Given the description of an element on the screen output the (x, y) to click on. 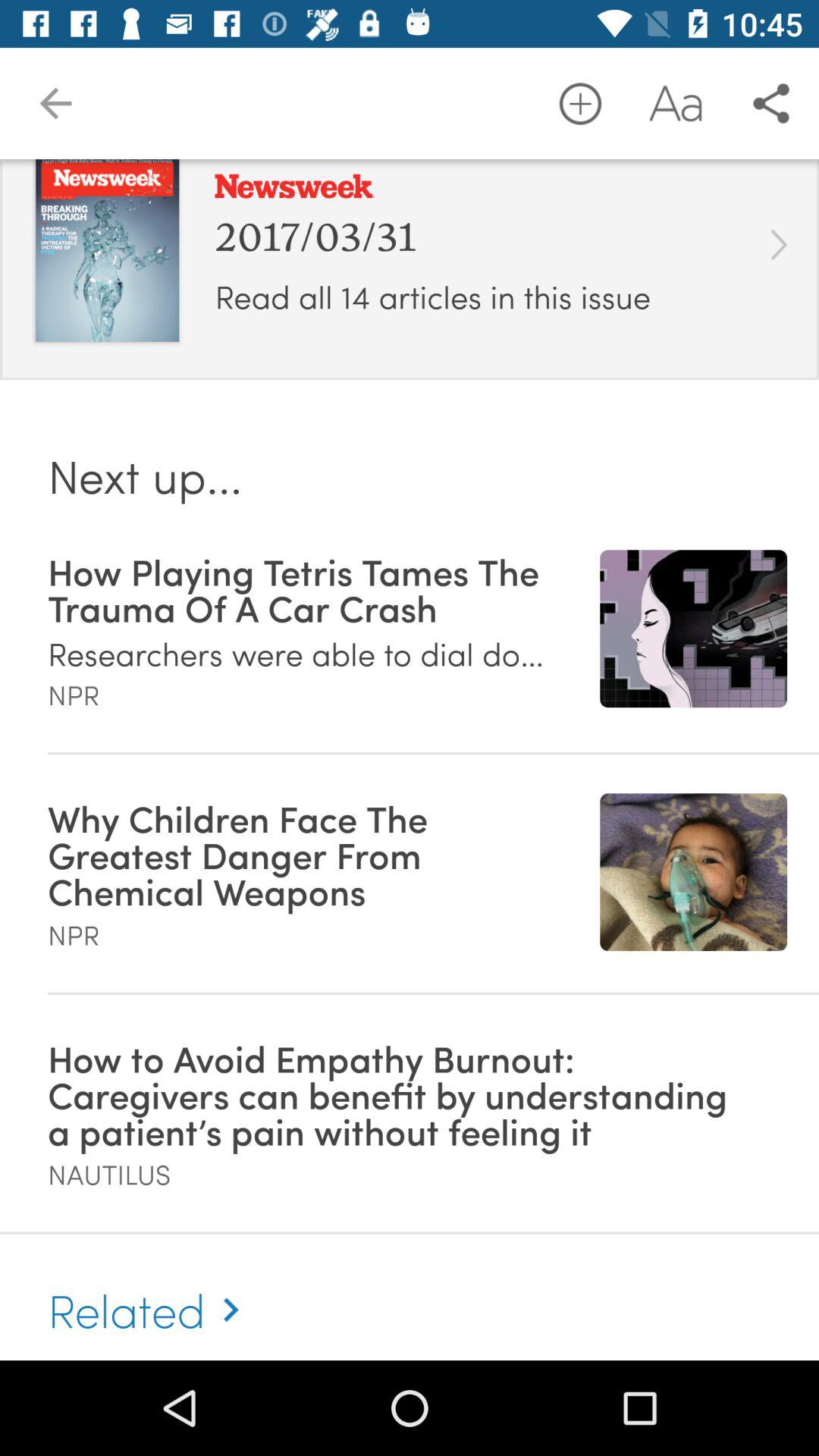
tap item below the nautilus icon (150, 1292)
